Given the description of an element on the screen output the (x, y) to click on. 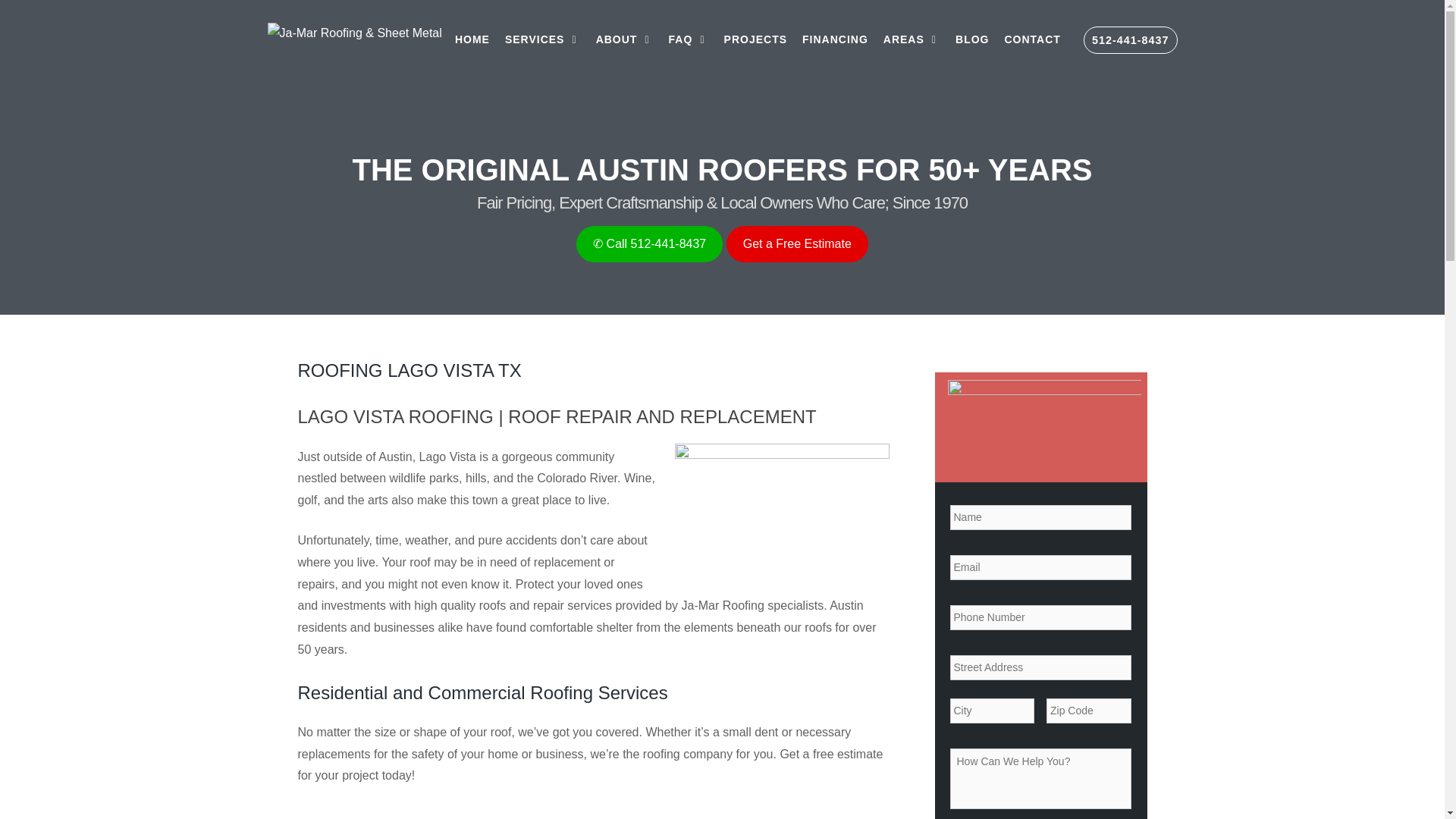
FAQ (688, 39)
FINANCING (835, 39)
AREAS (911, 39)
HOME (471, 39)
PROJECTS (755, 39)
